Given the description of an element on the screen output the (x, y) to click on. 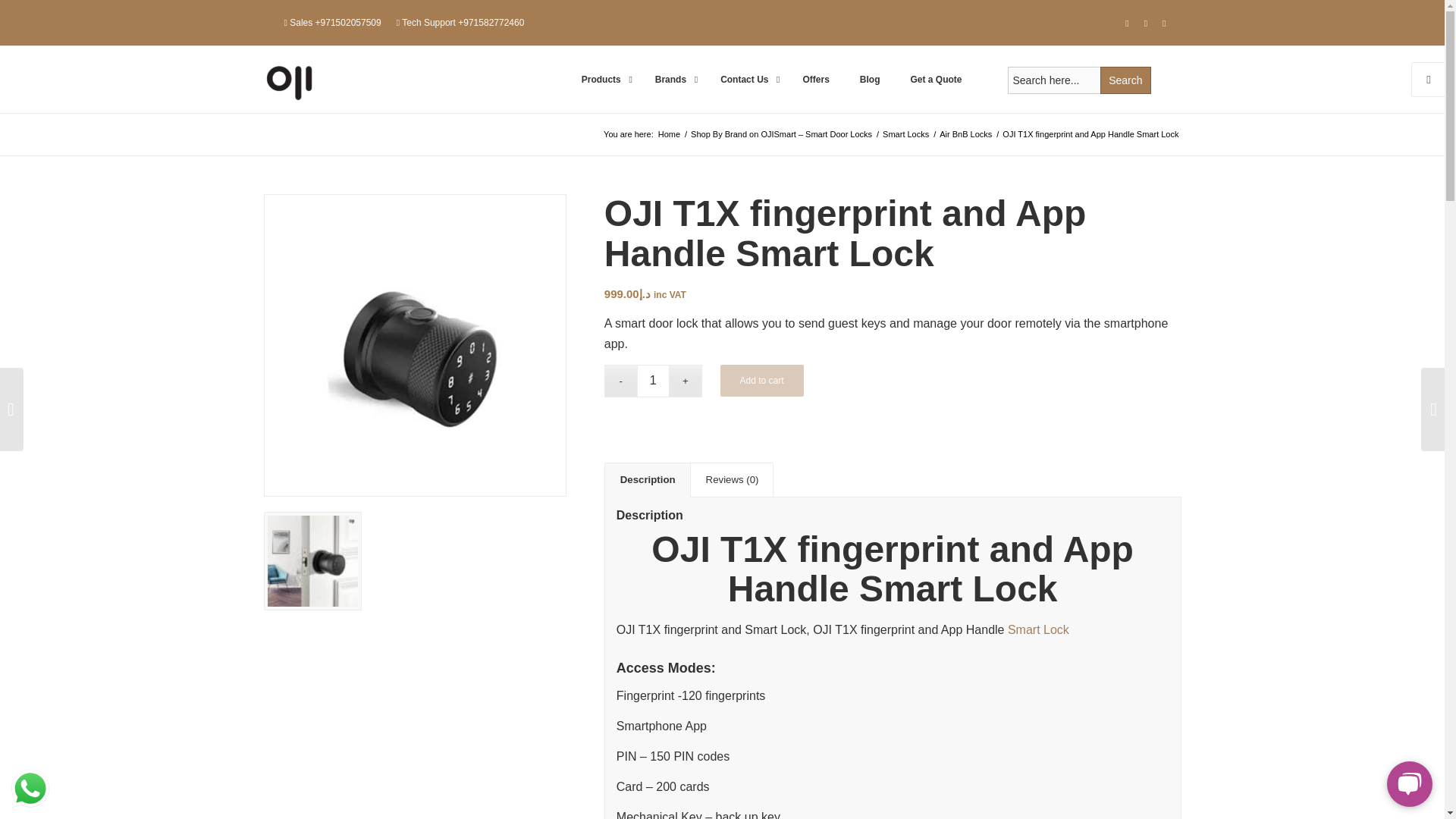
Add to cart (761, 380)
Contact Us (745, 79)
Search (1125, 80)
Products (603, 79)
Air BnB Locks (965, 134)
OJIsmart (669, 134)
OJI T1X fingerprint and App Handle Smart Lock 2 (312, 560)
T1X-smart lock (312, 560)
OJI T1x-smart-door-lock (414, 345)
Get a Quote (935, 79)
OJI T1X fingerprint and App Handle Smart Lock 1 (414, 345)
Brands (672, 79)
1 (653, 380)
Search (1125, 80)
Search (1125, 80)
